Given the description of an element on the screen output the (x, y) to click on. 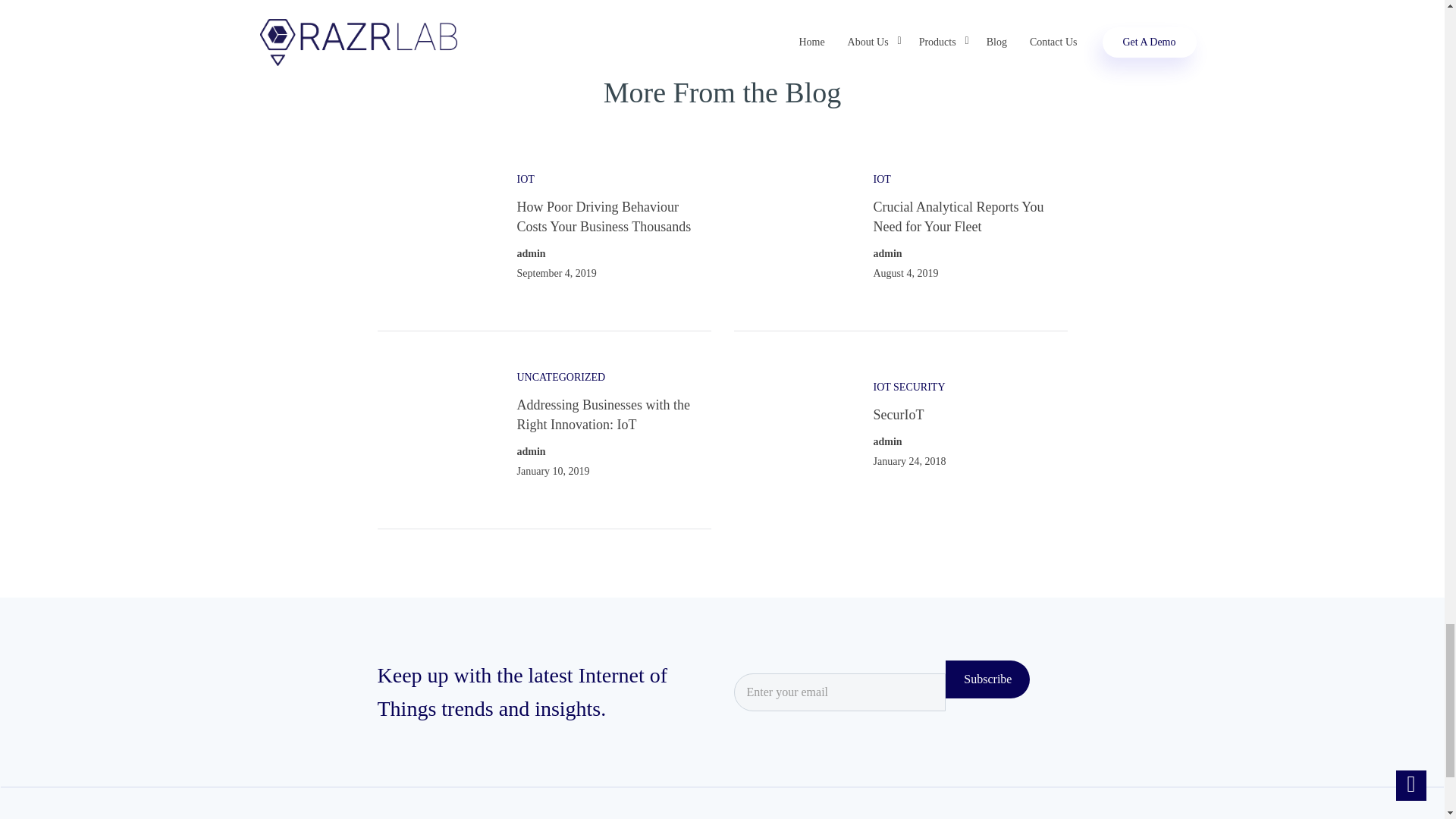
Subscribe (986, 679)
Subscribe (986, 679)
